Given the description of an element on the screen output the (x, y) to click on. 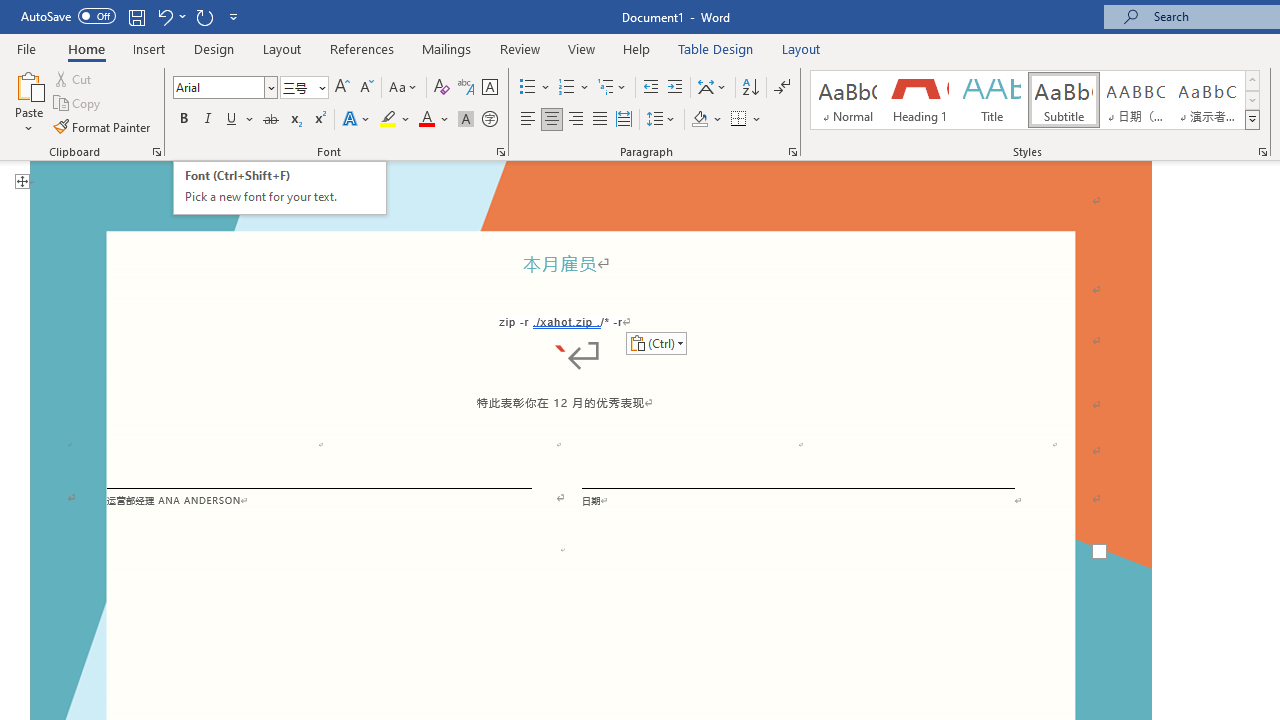
Undo Paste (170, 15)
Undo Paste (164, 15)
